Given the description of an element on the screen output the (x, y) to click on. 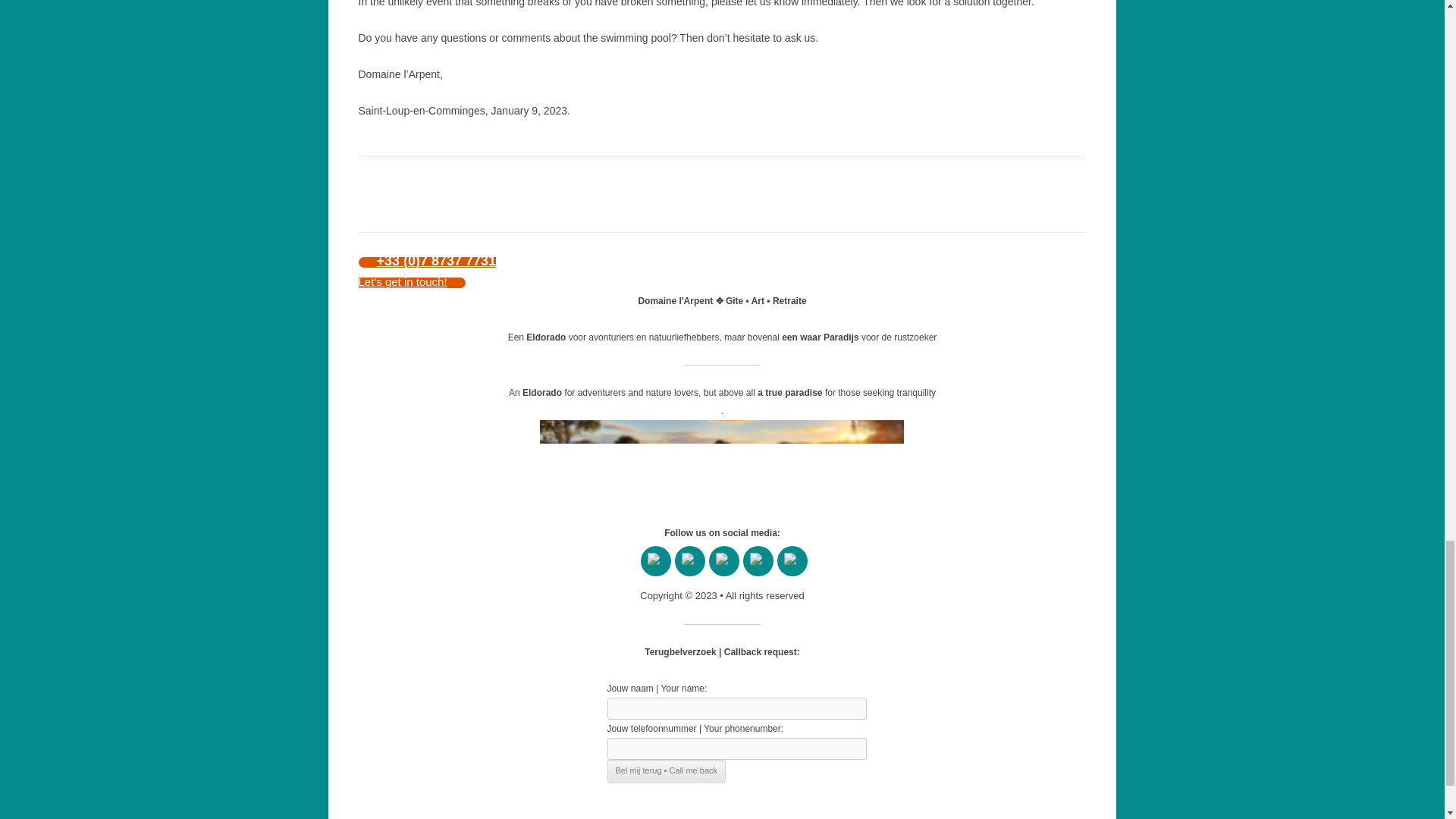
Pinterest (724, 560)
YouTube (689, 560)
LinkedIn (758, 560)
Facebook (655, 560)
Instagram (792, 560)
